Given the description of an element on the screen output the (x, y) to click on. 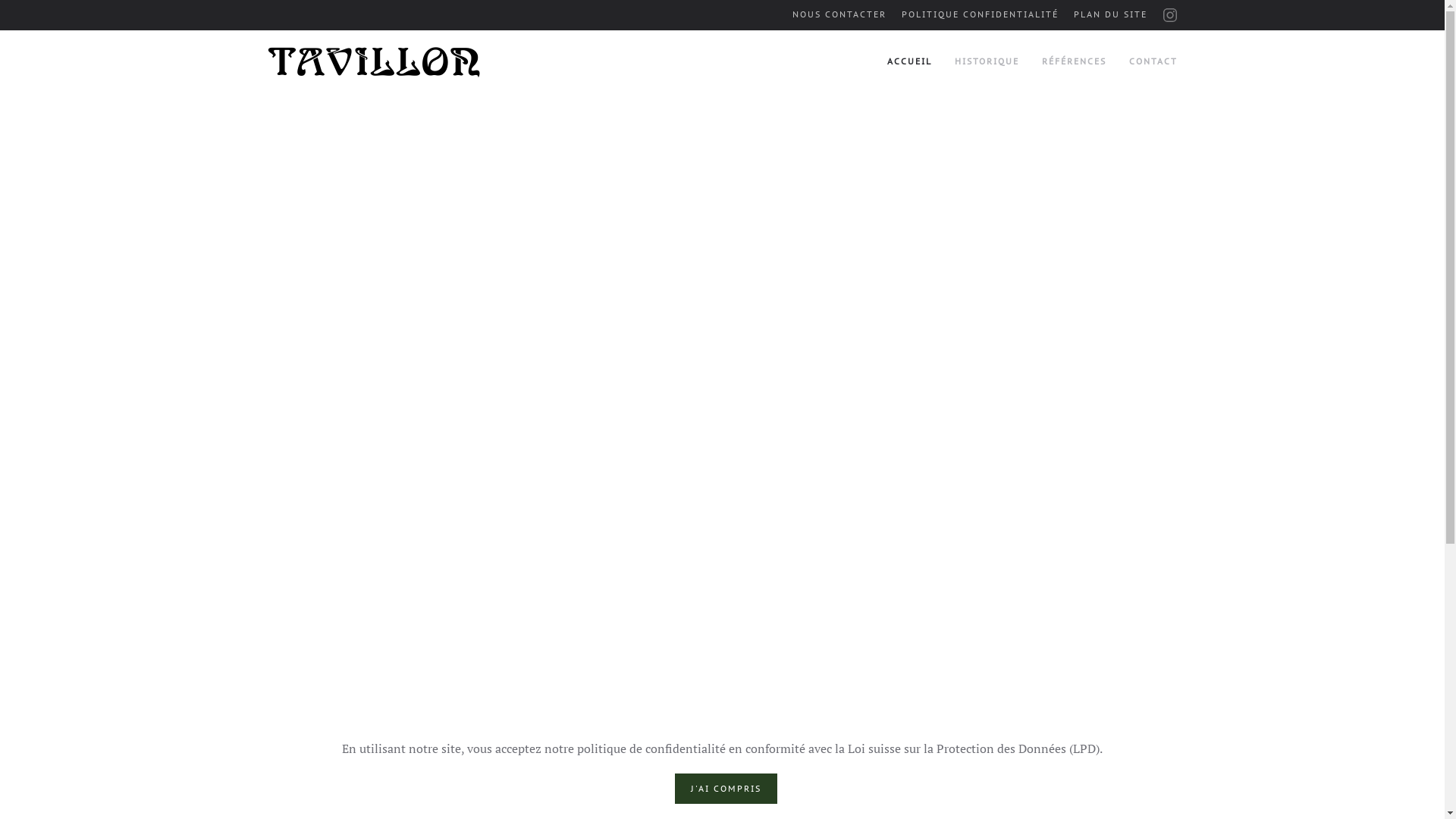
J'AI COMPRIS Element type: text (725, 788)
PLAN DU SITE Element type: text (1110, 14)
CONTACT Element type: text (1152, 61)
HISTORIQUE Element type: text (985, 61)
TAVILLON Element type: text (373, 62)
ACCUEIL Element type: text (909, 61)
NOUS CONTACTER Element type: text (838, 14)
